Given the description of an element on the screen output the (x, y) to click on. 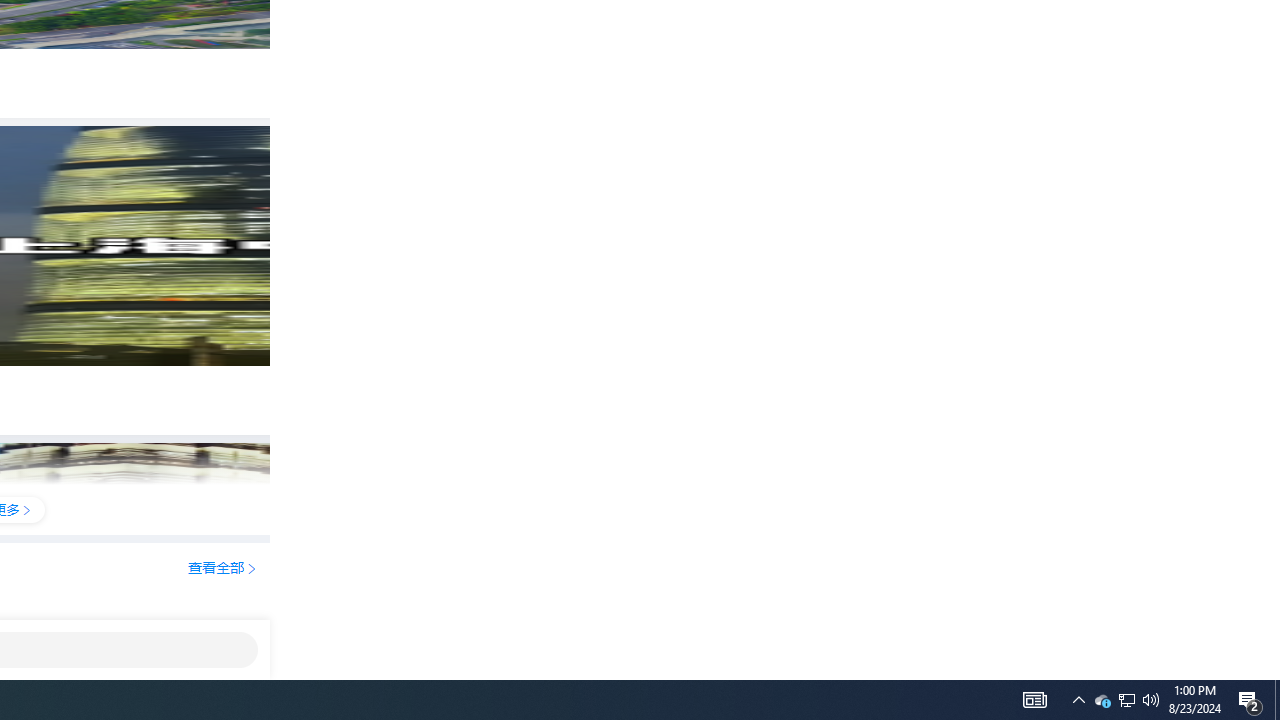
Q2790: 100% (1151, 699)
AutomationID: 4105 (1126, 699)
Action Center, 2 new notifications (1034, 699)
User Promoted Notification Area (1250, 699)
Notification Chevron (1126, 699)
Show desktop (1102, 699)
